Given the description of an element on the screen output the (x, y) to click on. 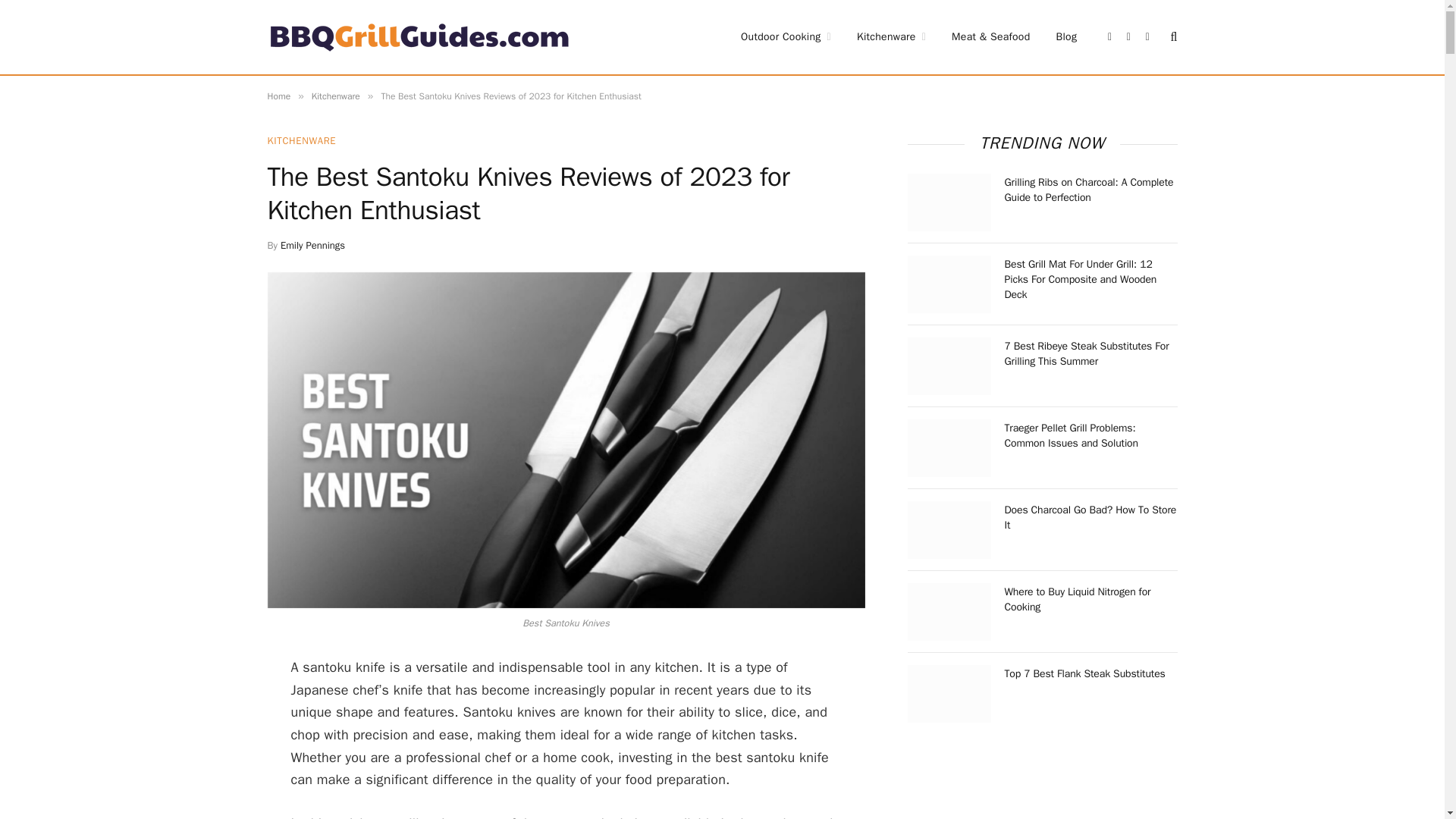
Outdoor Cooking (786, 37)
Emily Pennings (313, 245)
Home (277, 96)
Kitchenware (891, 37)
BBQGrillGuides.com (418, 36)
KITCHENWARE (301, 140)
Kitchenware (335, 96)
Posts by Emily Pennings (313, 245)
